Given the description of an element on the screen output the (x, y) to click on. 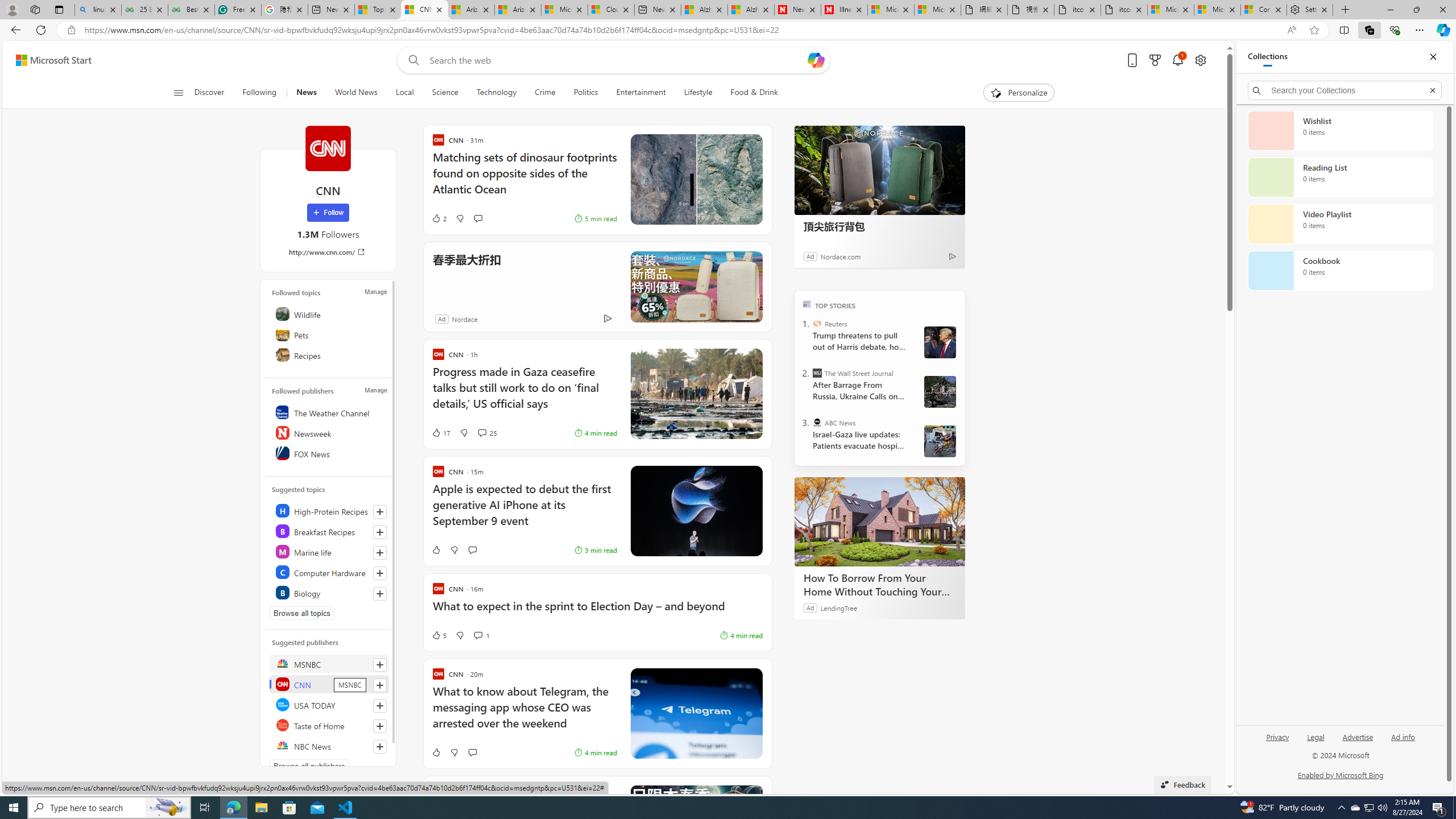
Illness news & latest pictures from Newsweek.com (844, 9)
Consumer Health Data Privacy Policy (1263, 9)
Enter your search term (617, 59)
